Given the description of an element on the screen output the (x, y) to click on. 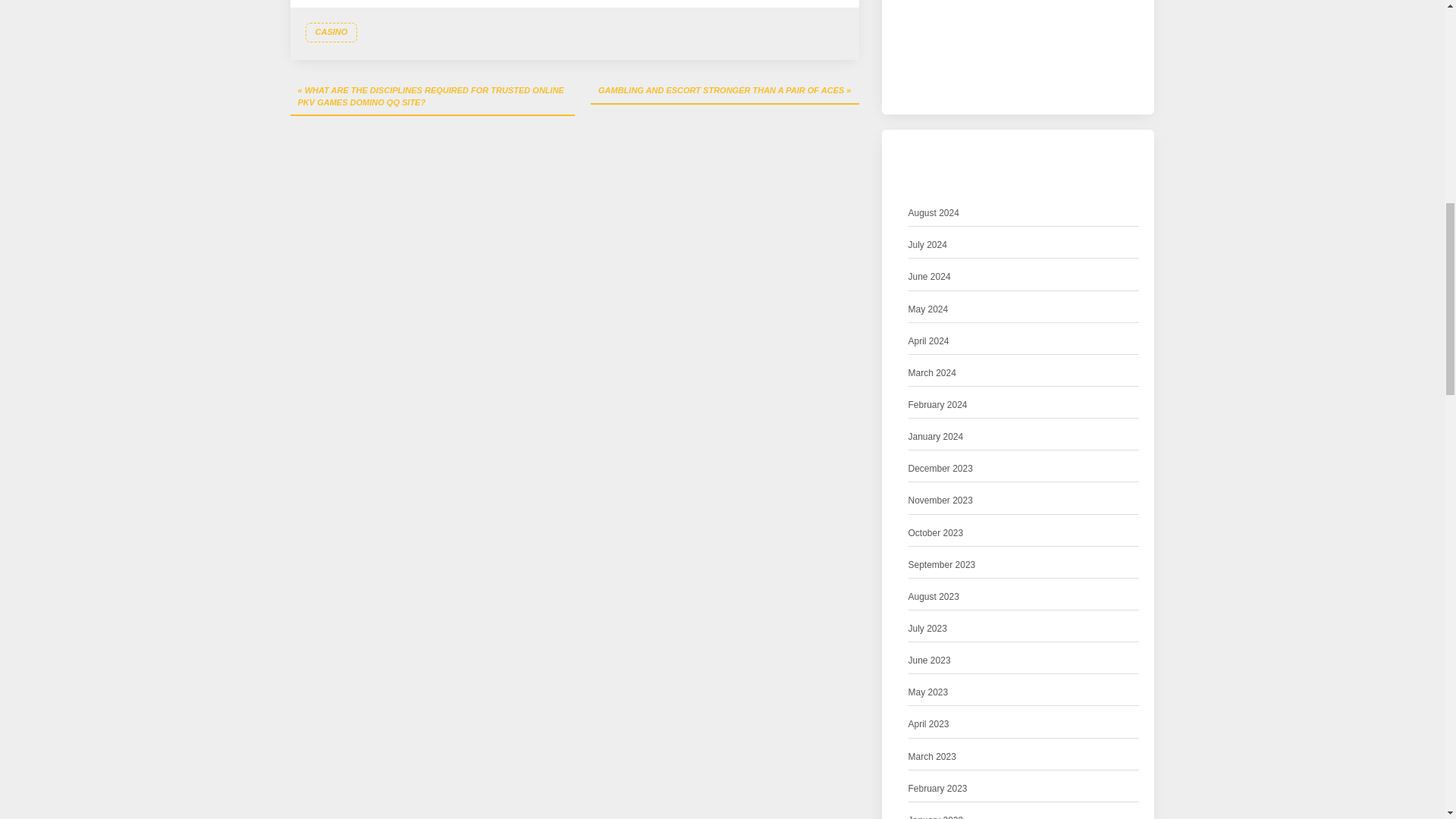
April 2024 (928, 341)
March 2024 (932, 373)
February 2024 (938, 405)
July 2024 (927, 245)
May 2023 (928, 692)
July 2023 (927, 628)
December 2023 (940, 468)
April 2023 (928, 724)
November 2023 (940, 500)
